Given the description of an element on the screen output the (x, y) to click on. 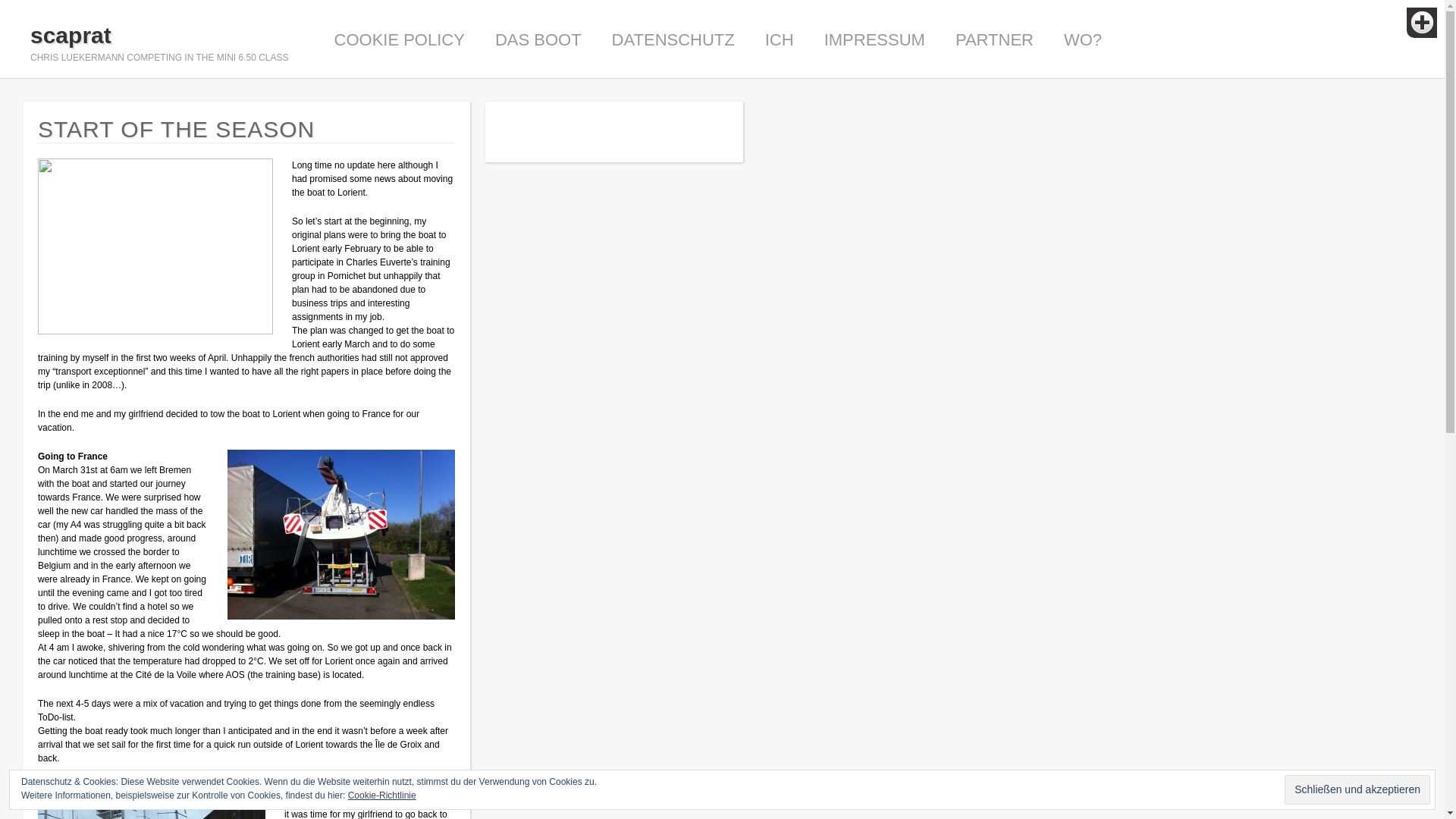
WO? (1083, 39)
scaprat (159, 35)
Cleaning the boat (150, 806)
ICH (779, 39)
IMPRESSUM (874, 39)
DAS BOOT (537, 39)
PARTNER (994, 39)
Cookie-Richtlinie (381, 795)
scaprat (159, 35)
On the road (340, 534)
COOKIE POLICY (399, 39)
DATENSCHUTZ (673, 39)
start of the season (164, 248)
